Given the description of an element on the screen output the (x, y) to click on. 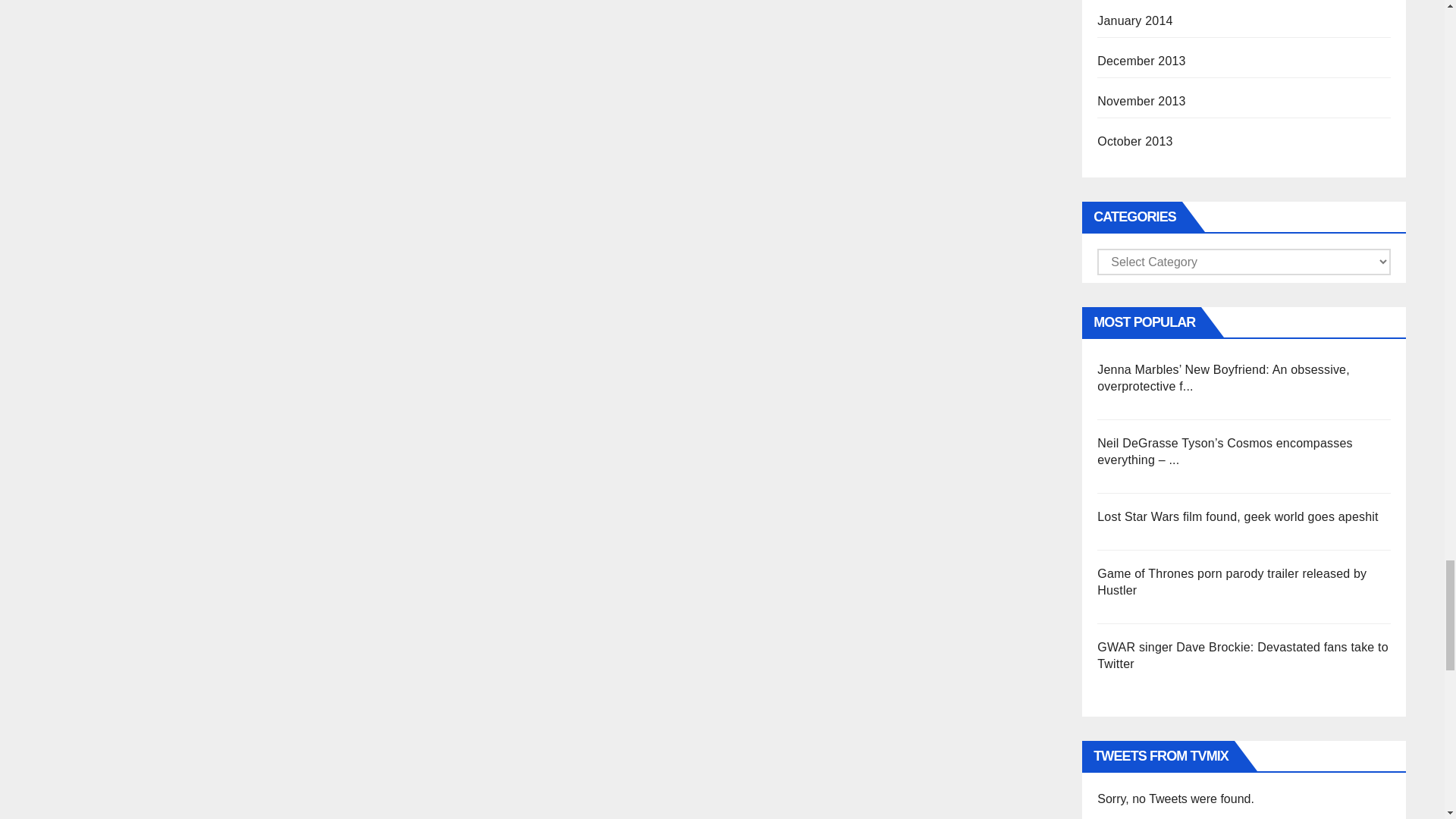
Lost Star Wars film found, geek world goes apeshit (1237, 516)
Game of Thrones porn parody trailer released by Hustler (1232, 582)
GWAR singer Dave Brockie: Devastated fans take to Twitter (1243, 655)
